Given the description of an element on the screen output the (x, y) to click on. 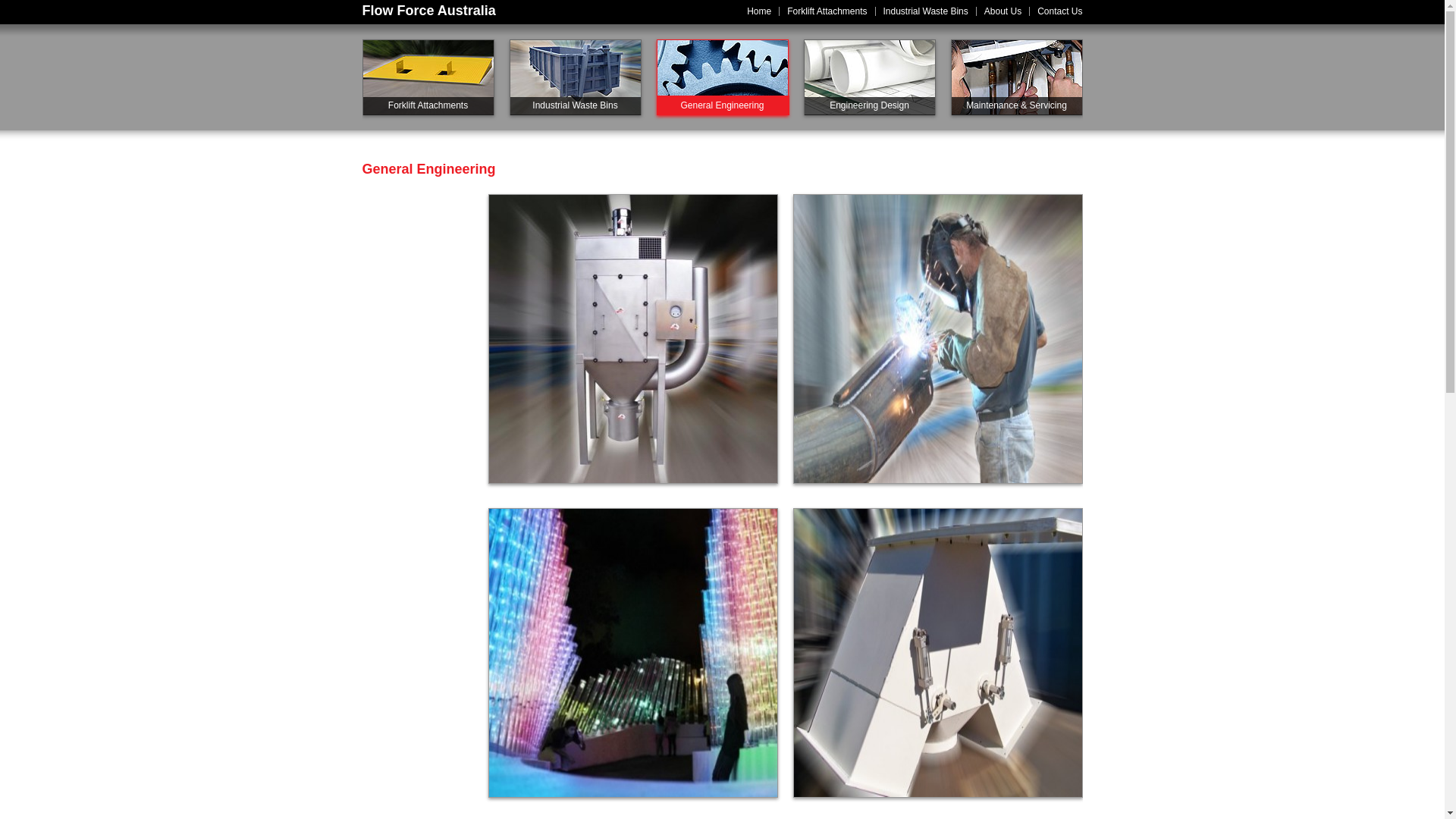
General Engineering Element type: text (722, 77)
Maintenance & Servicing Element type: text (1016, 77)
Flow Force Australia Element type: text (428, 10)
About Us Element type: text (1002, 11)
Engineering Design Element type: text (869, 77)
Home Element type: text (758, 11)
Industrial Waste Bins Element type: text (575, 77)
Forklift Attachments Element type: text (428, 77)
Industrial Waste Bins Element type: text (925, 11)
Contact Us Element type: text (1059, 11)
Forklift Attachments Element type: text (826, 11)
